Given the description of an element on the screen output the (x, y) to click on. 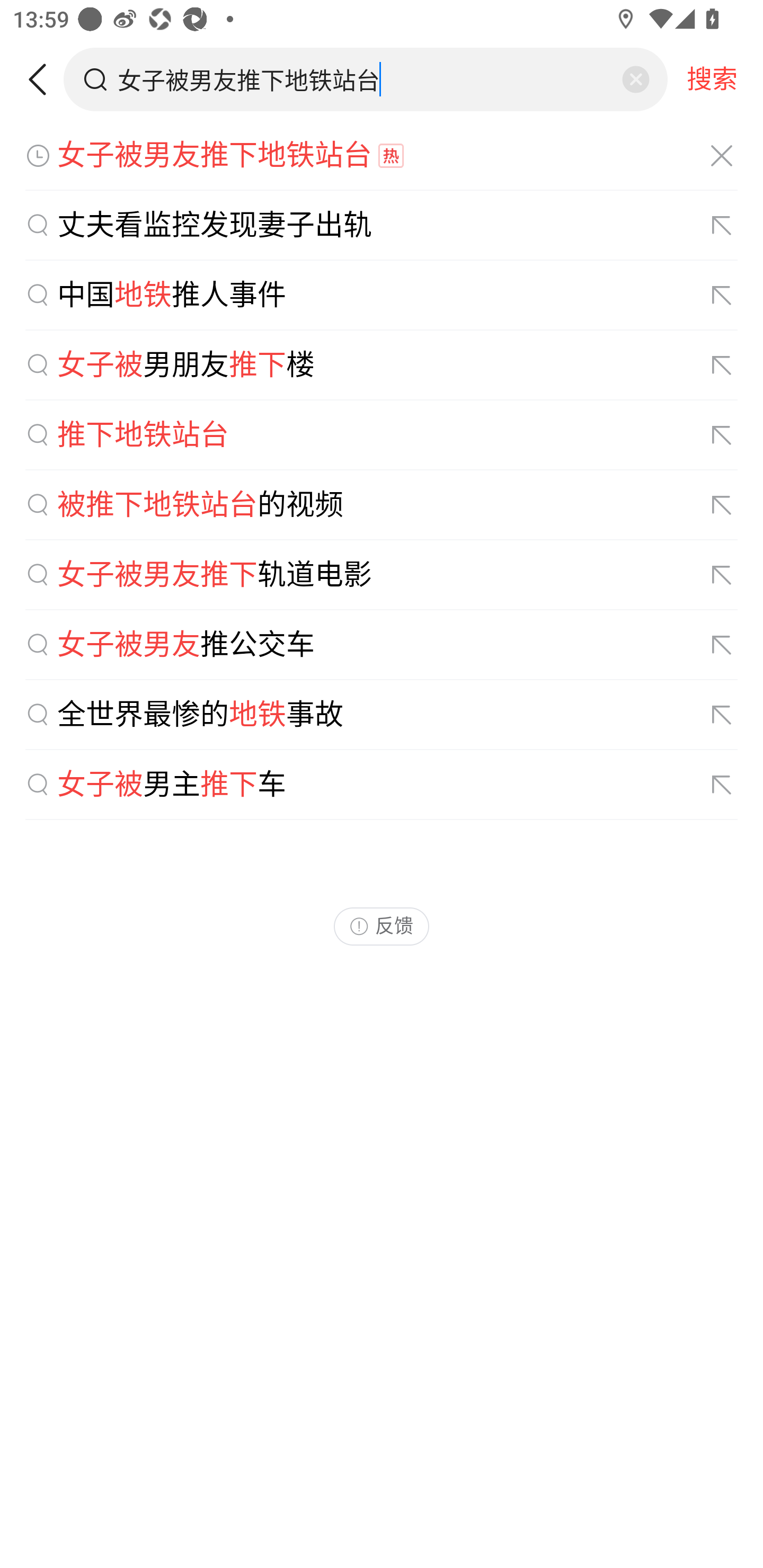
搜索框，女子被男友推下地铁站台 (366, 79)
搜索 (711, 79)
返回 (44, 79)
清除 (635, 79)
女子被男友推下地铁站台 (381, 155)
丈夫看监控发现妻子出轨 填充搜索词丈夫看监控发现妻子出轨至搜索框 (381, 225)
填充搜索词丈夫看监控发现妻子出轨至搜索框 (721, 225)
中国地铁推人事件 填充搜索词中国地铁推人事件至搜索框 (381, 295)
填充搜索词中国地铁推人事件至搜索框 (721, 295)
女子被男朋友推下楼 填充搜索词女子被男朋友推下楼至搜索框 (381, 364)
填充搜索词女子被男朋友推下楼至搜索框 (721, 365)
推下地铁站台 填充搜索词推下地铁站台至搜索框 (381, 434)
填充搜索词推下地铁站台至搜索框 (721, 435)
被推下地铁站台的视频 填充搜索词被推下地铁站台的视频至搜索框 (381, 505)
填充搜索词被推下地铁站台的视频至搜索框 (721, 504)
女子被男友推下轨道电影 填充搜索词女子被男友推下轨道电影至搜索框 (381, 574)
填充搜索词女子被男友推下轨道电影至搜索框 (721, 575)
女子被男友推公交车 填充搜索词女子被男友推公交车至搜索框 (381, 644)
填充搜索词女子被男友推公交车至搜索框 (721, 644)
全世界最惨的地铁事故 填充搜索词全世界最惨的地铁事故至搜索框 (381, 714)
填充搜索词全世界最惨的地铁事故至搜索框 (721, 714)
女子被男主推下车 填充搜索词女子被男主推下车至搜索框 (381, 784)
填充搜索词女子被男主推下车至搜索框 (721, 785)
反馈 (381, 926)
